Given the description of an element on the screen output the (x, y) to click on. 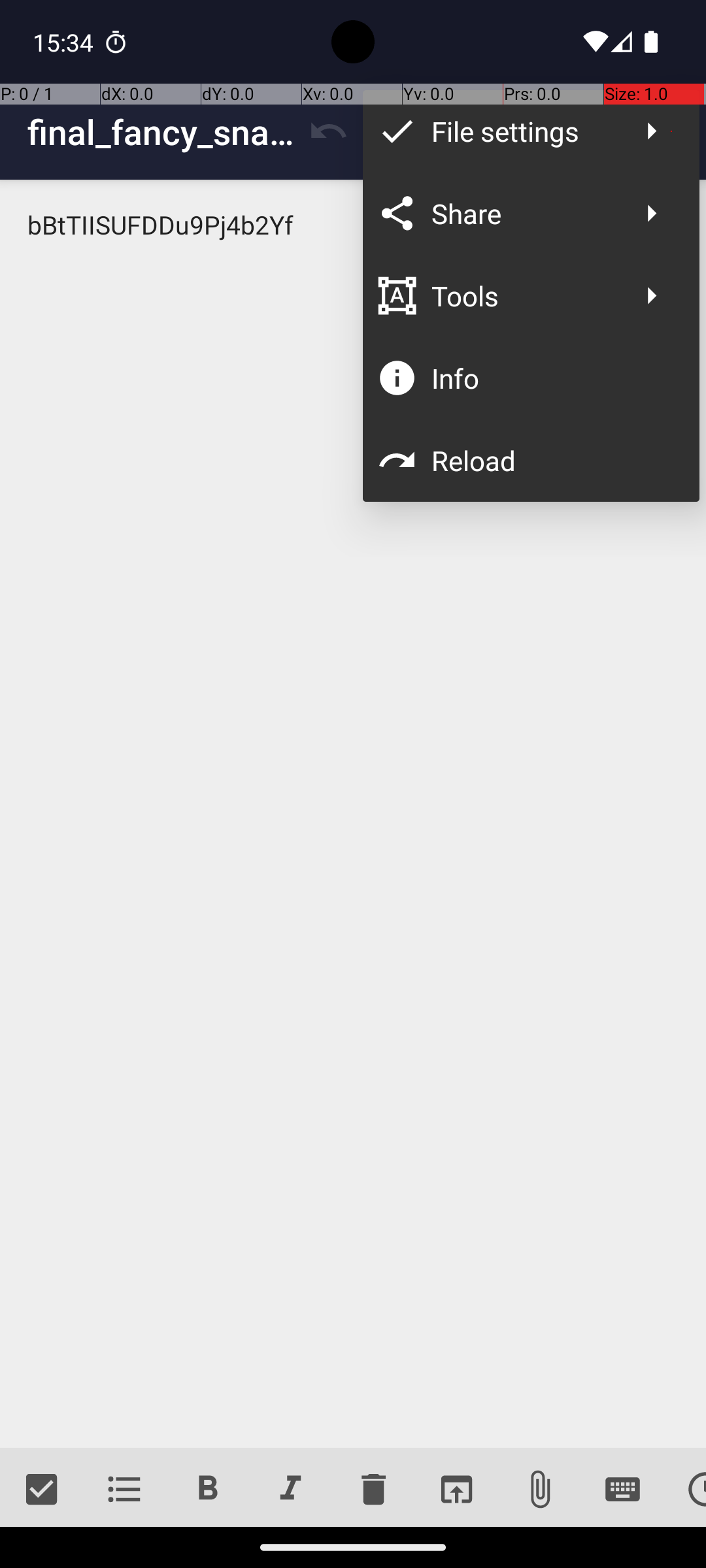
File settings Element type: android.widget.TextView (524, 130)
Tools Element type: android.widget.TextView (524, 295)
Info Element type: android.widget.TextView (551, 377)
